Given the description of an element on the screen output the (x, y) to click on. 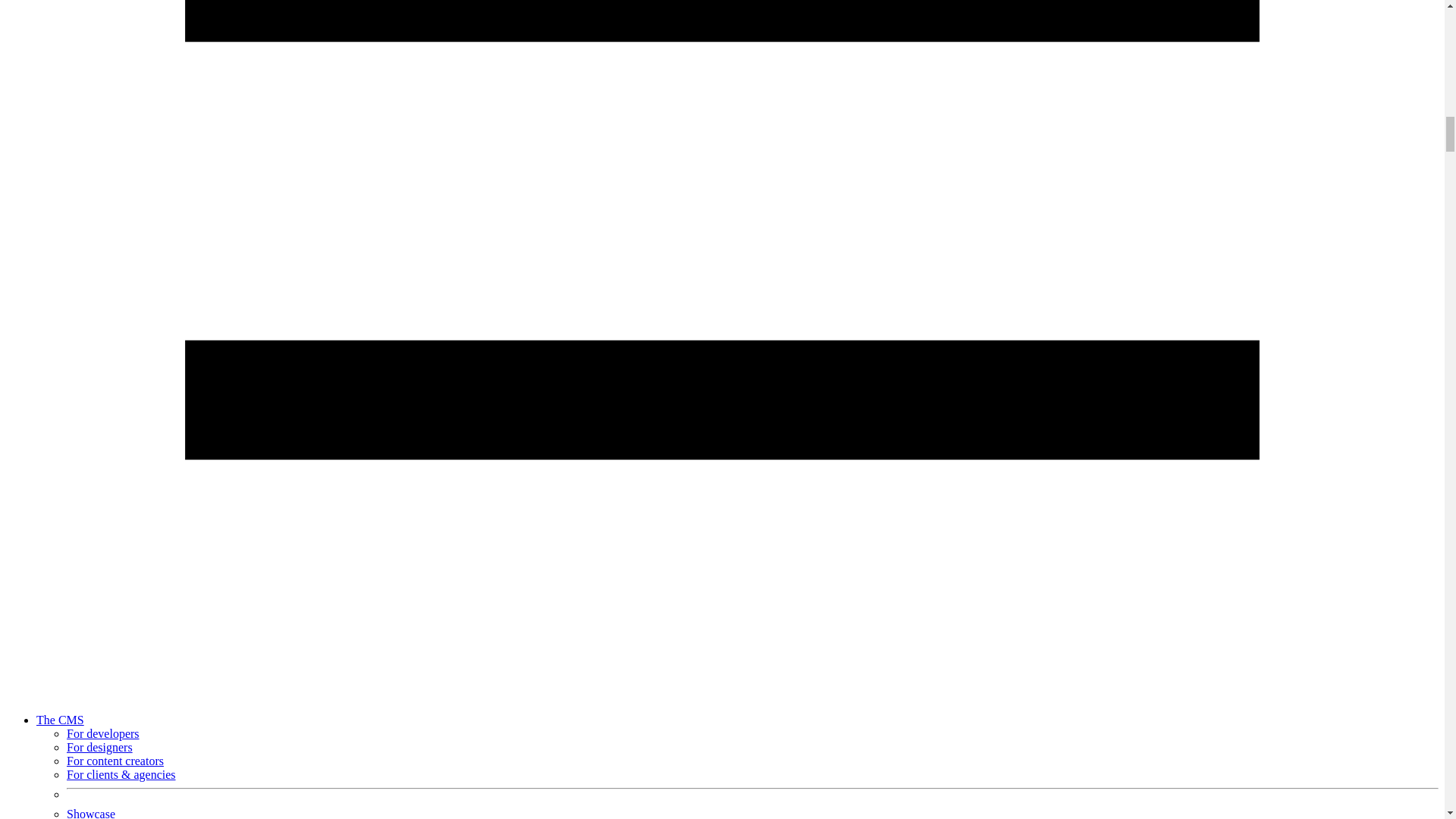
The CMS (60, 719)
For content creators (114, 760)
For developers (102, 733)
Showcase (90, 813)
For designers (99, 747)
